Given the description of an element on the screen output the (x, y) to click on. 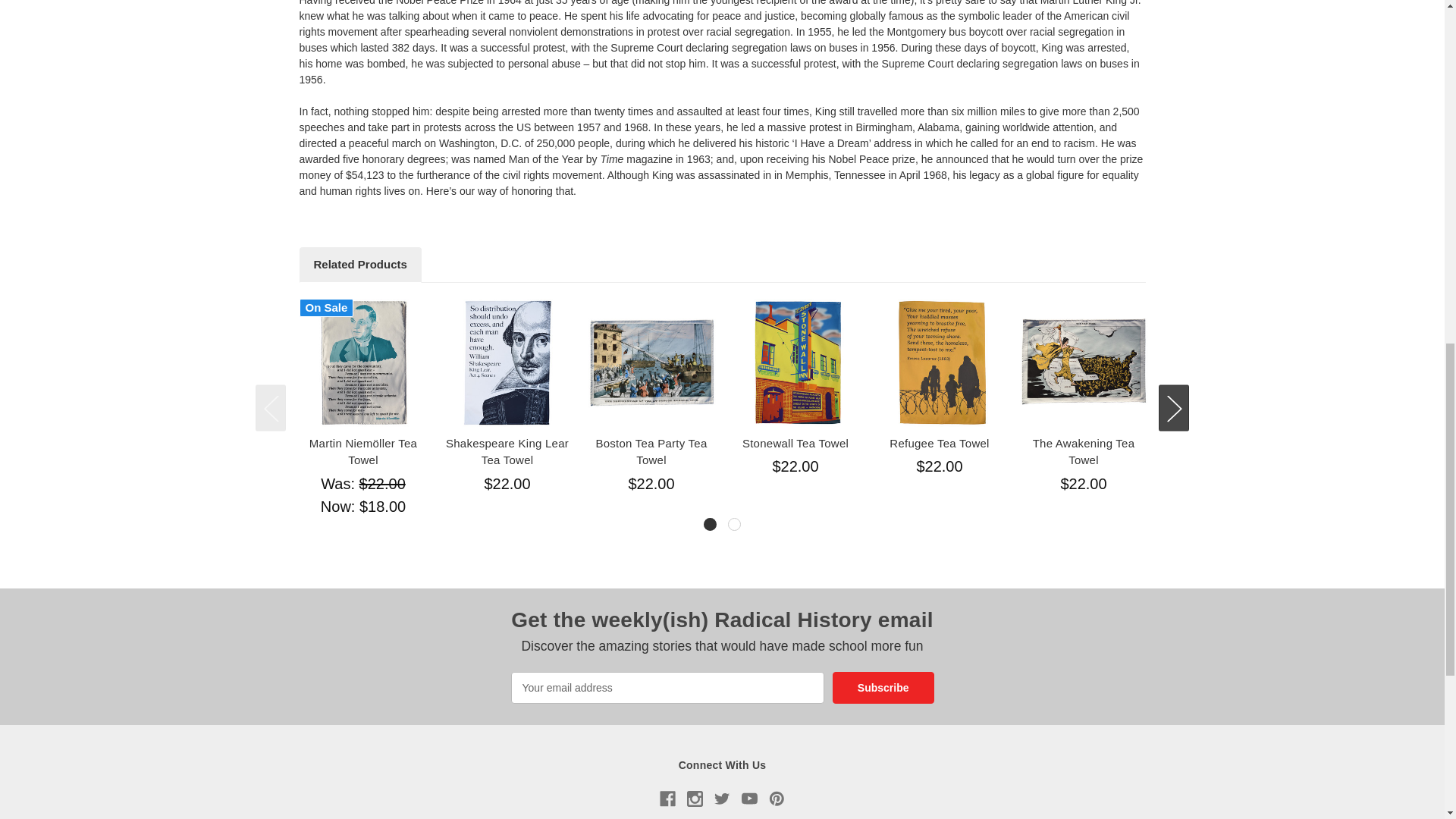
Subscribe (883, 687)
